Given the description of an element on the screen output the (x, y) to click on. 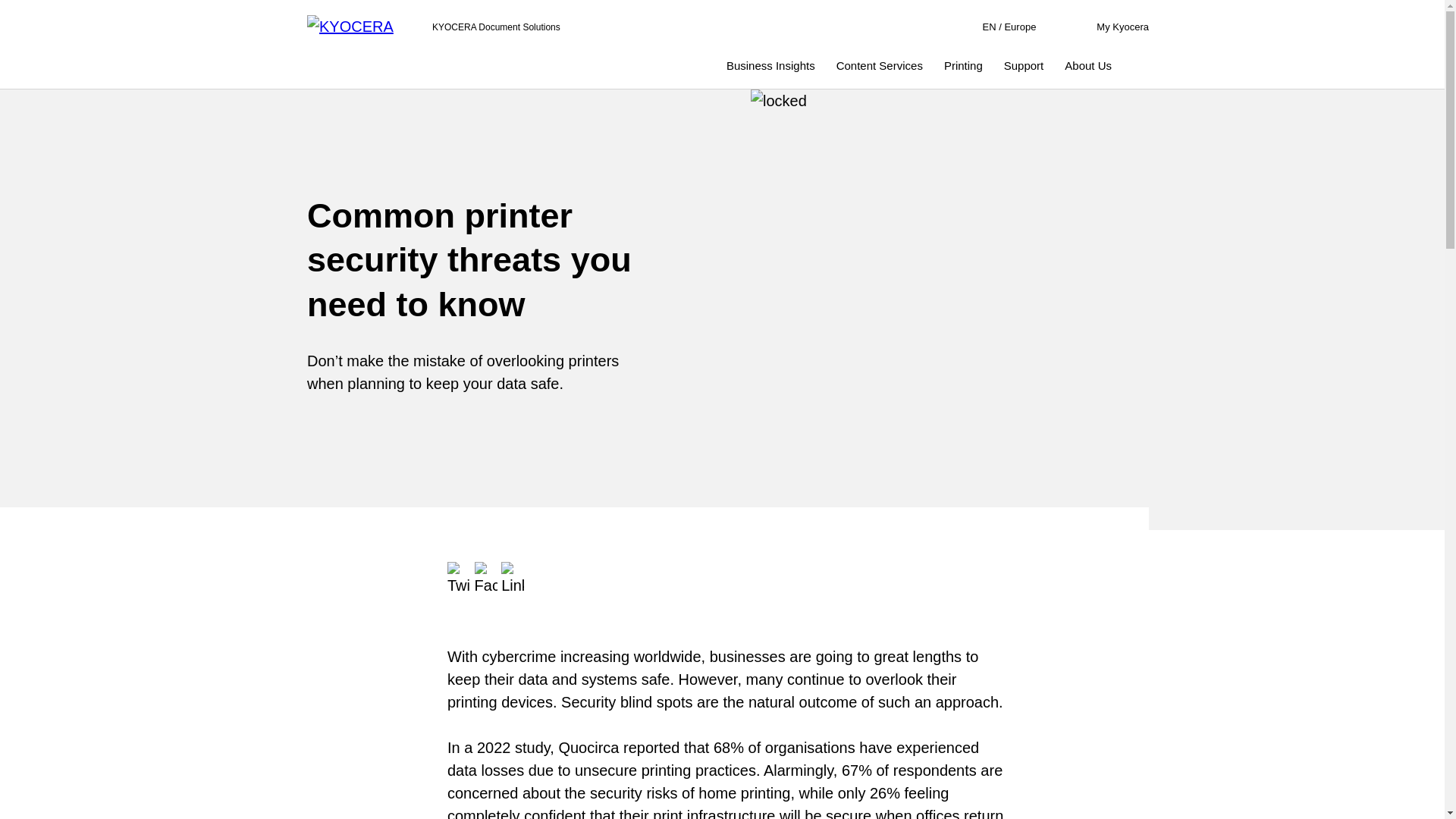
Content Services (999, 27)
My Kyocera (879, 65)
KYOCERA Document Solutions (1122, 27)
Business Insights (363, 27)
